Given the description of an element on the screen output the (x, y) to click on. 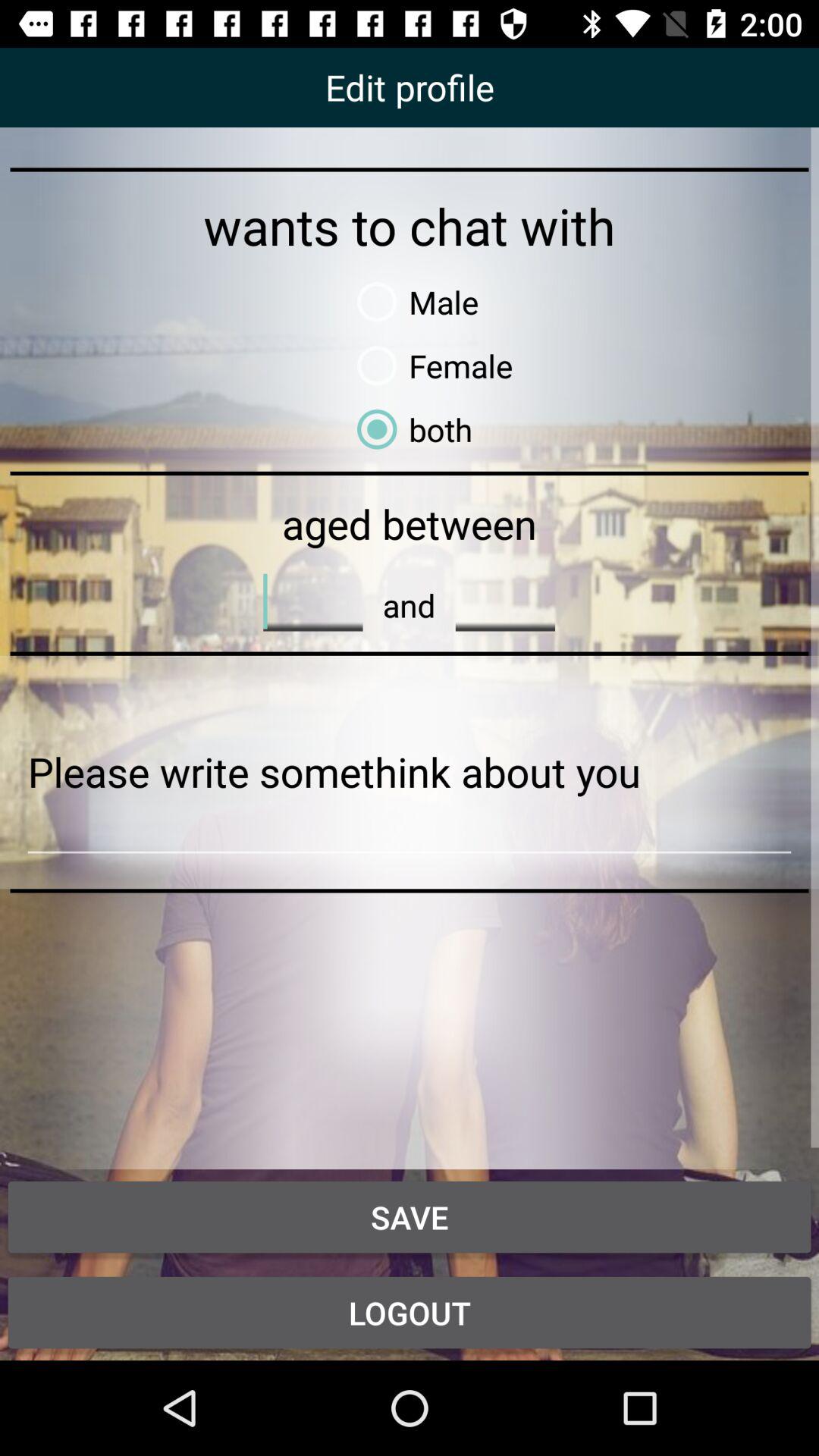
put in age (312, 601)
